Given the description of an element on the screen output the (x, y) to click on. 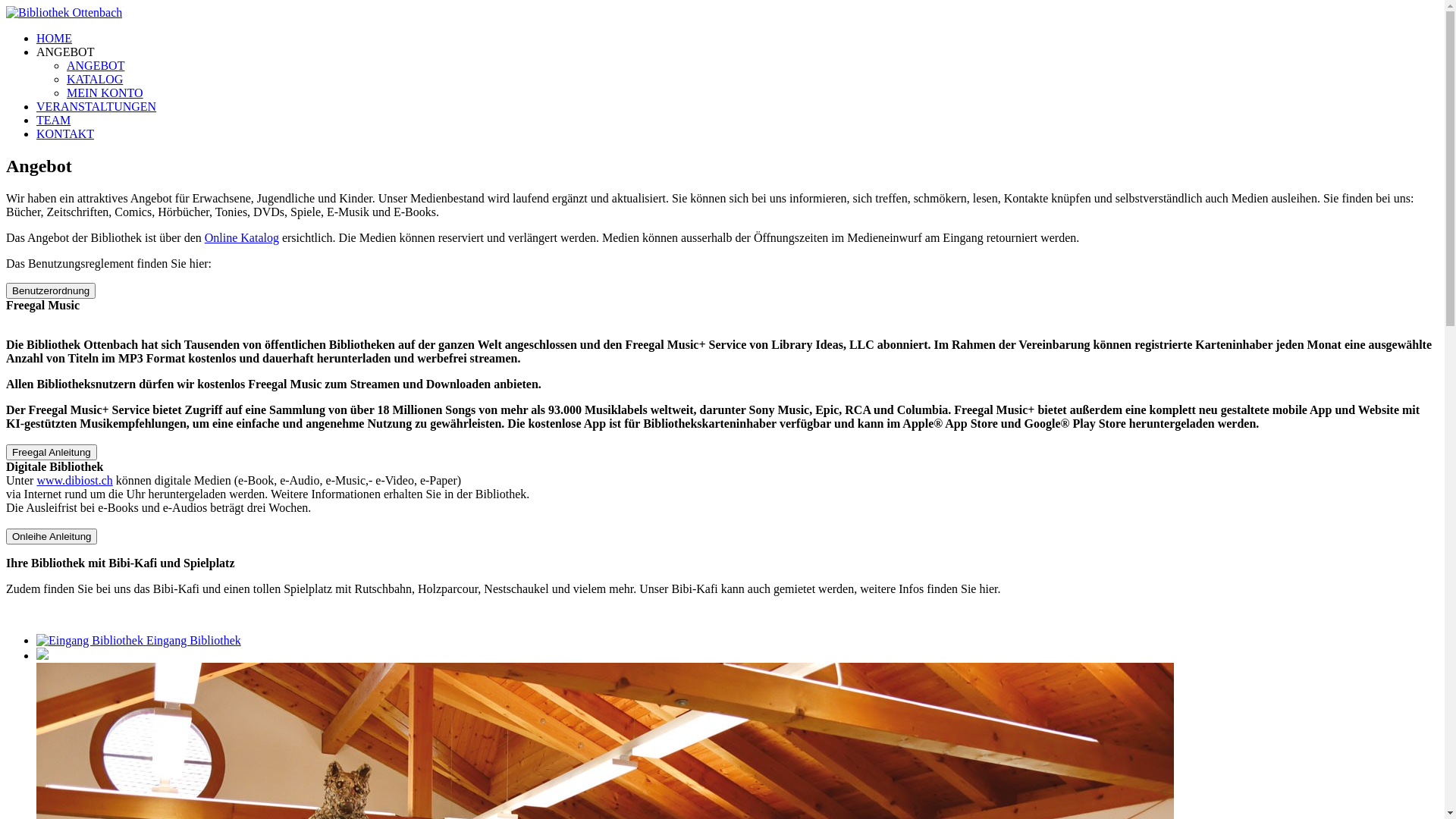
Eingang Bibliothek Element type: text (138, 639)
Freegal Anleitung Element type: text (51, 452)
KATALOG Element type: text (94, 78)
MEIN KONTO Element type: text (104, 92)
Online Katalog Element type: text (241, 237)
HOME Element type: text (54, 37)
VERANSTALTUNGEN Element type: text (96, 106)
www.dibiost.ch Element type: text (74, 479)
Benutzerordnung Element type: text (50, 290)
Onleihe Anleitung Element type: text (51, 536)
ANGEBOT Element type: text (95, 65)
Eingang Bibliothek Element type: hover (89, 640)
TEAM Element type: text (53, 119)
KONTAKT Element type: text (65, 133)
